Given the description of an element on the screen output the (x, y) to click on. 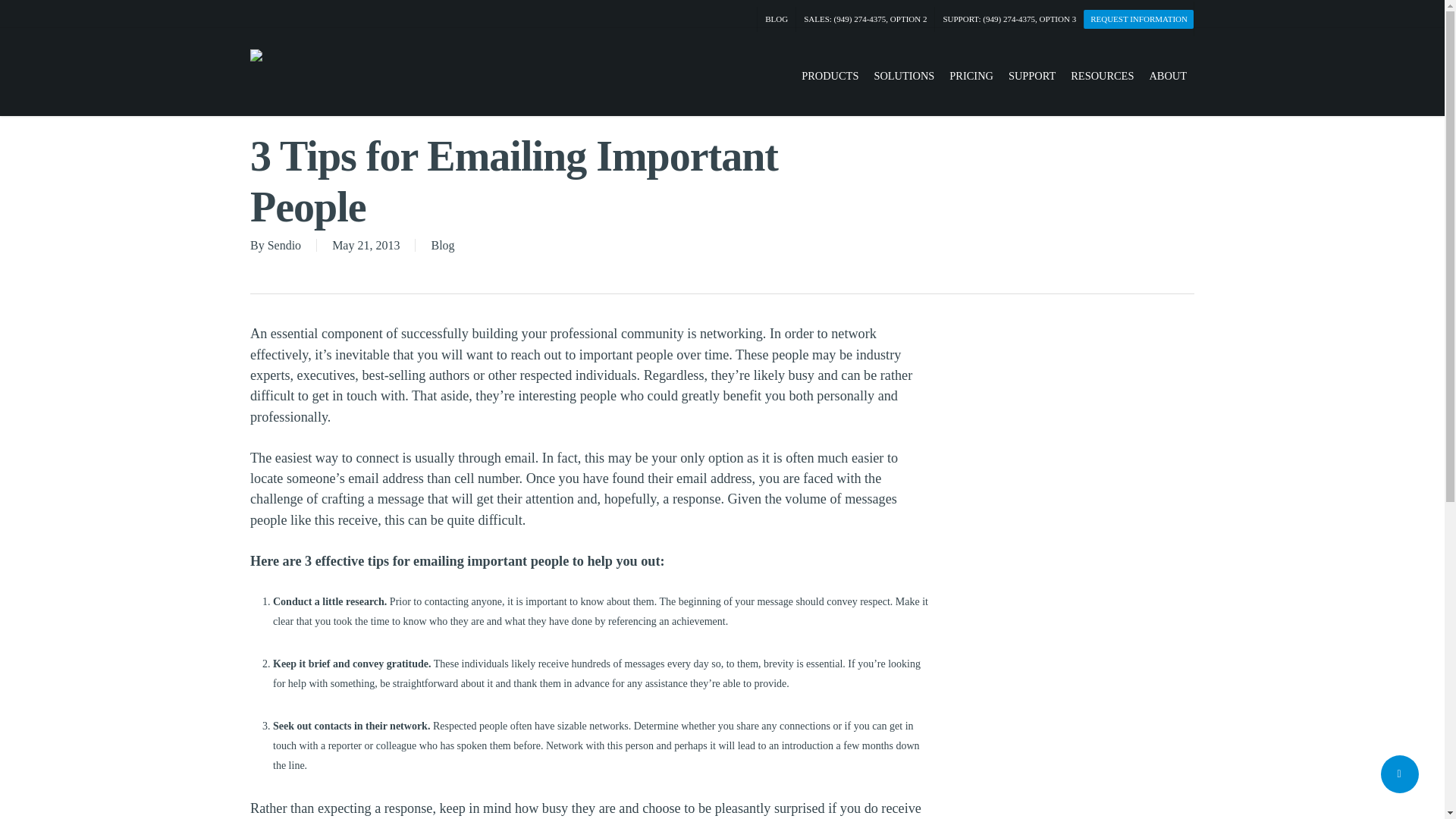
PRODUCTS (829, 75)
Blog (442, 245)
PRICING (971, 75)
Posts by Sendio (284, 245)
SUPPORT (1031, 75)
BLOG (775, 18)
RESOURCES (1101, 75)
Sendio (284, 245)
SOLUTIONS (904, 75)
REQUEST INFORMATION (1138, 18)
ABOUT (1167, 75)
